Given the description of an element on the screen output the (x, y) to click on. 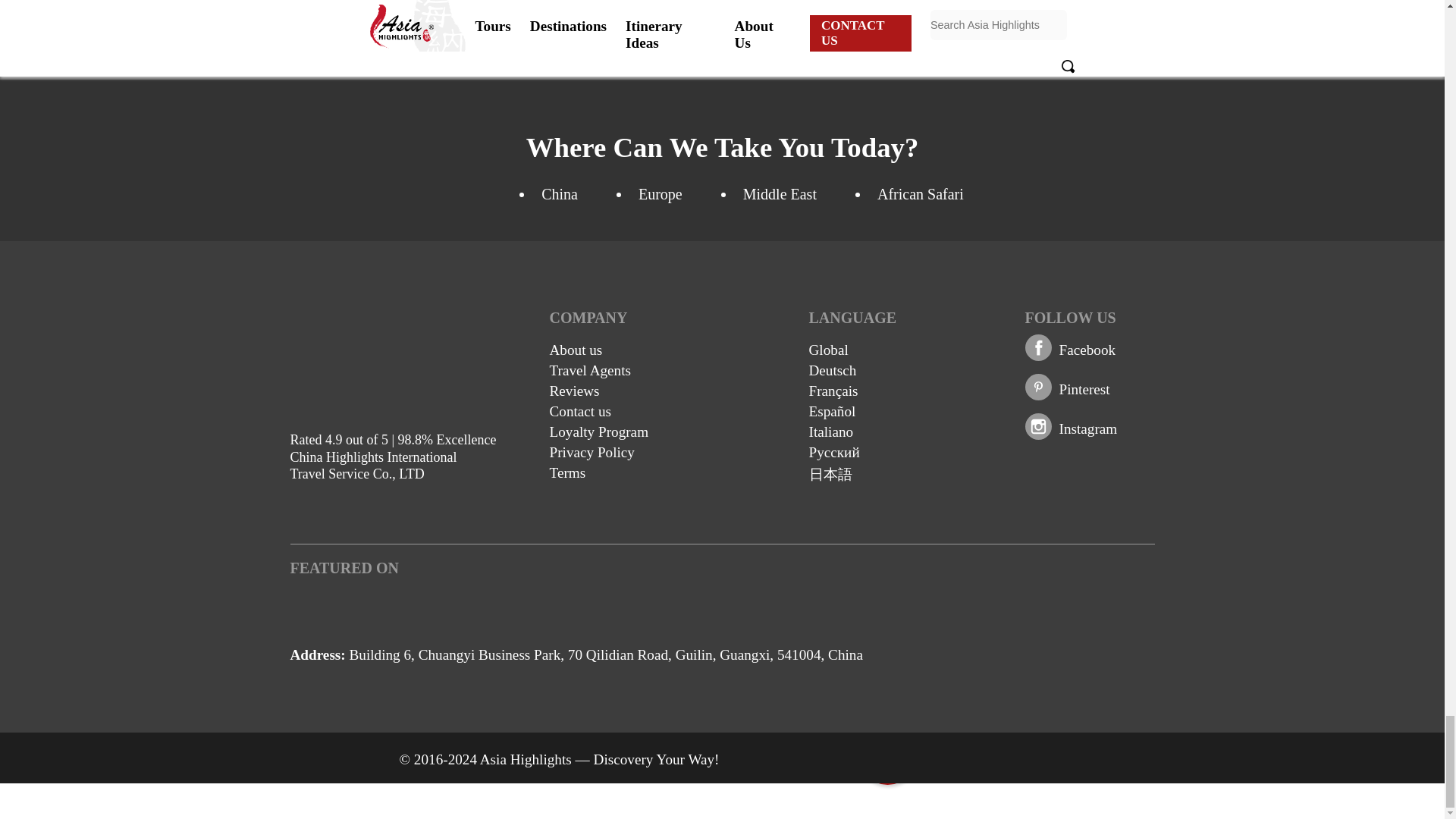
Follow us on Instagram (1087, 428)
Share us on Pinterest (1083, 389)
Follow us on Facebook (1086, 349)
